Given the description of an element on the screen output the (x, y) to click on. 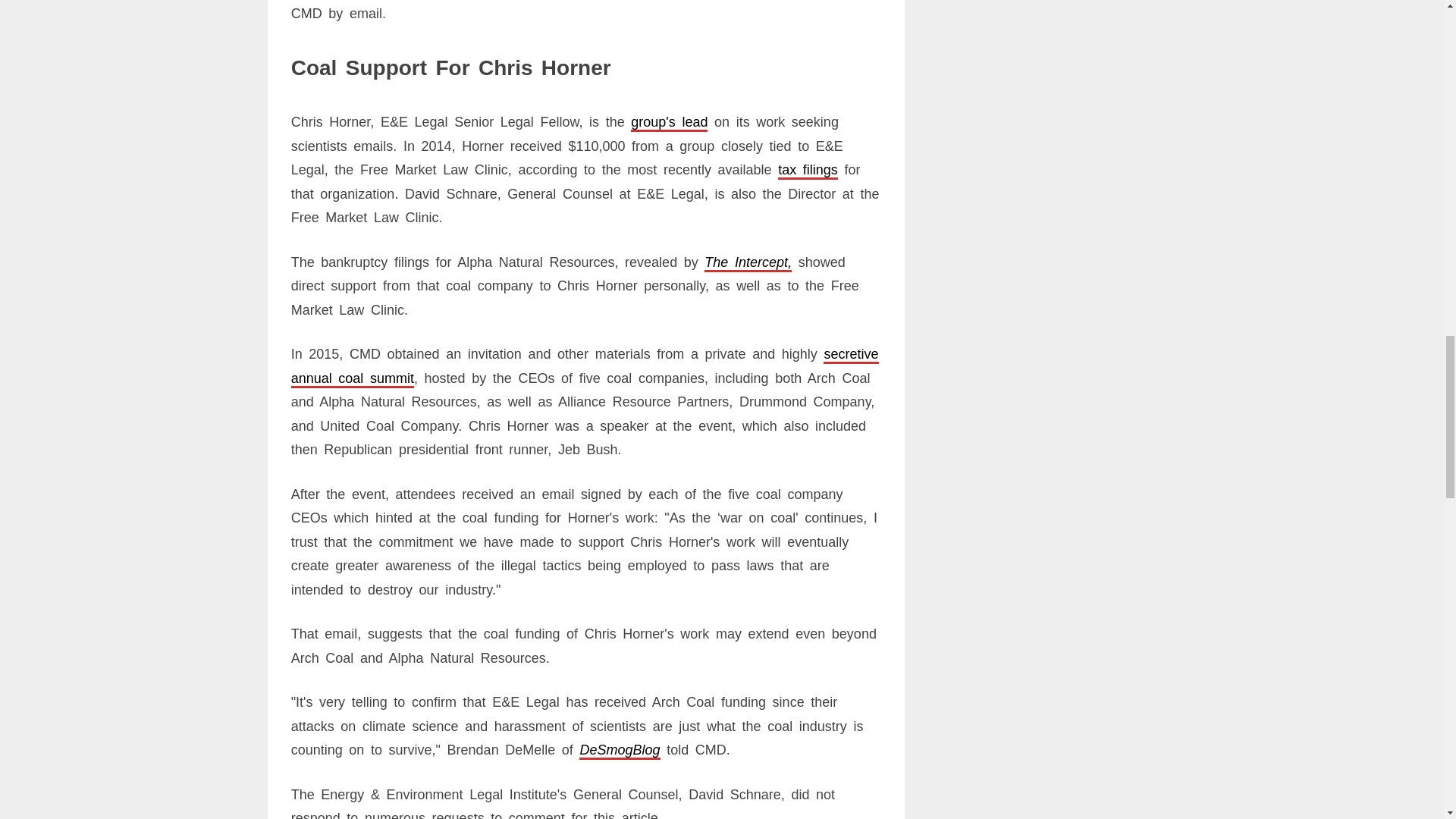
group's lead (668, 121)
DeSmogBlog (619, 749)
secretive annual coal summit (585, 365)
tax filings (807, 169)
The Intercept, (748, 262)
